Given the description of an element on the screen output the (x, y) to click on. 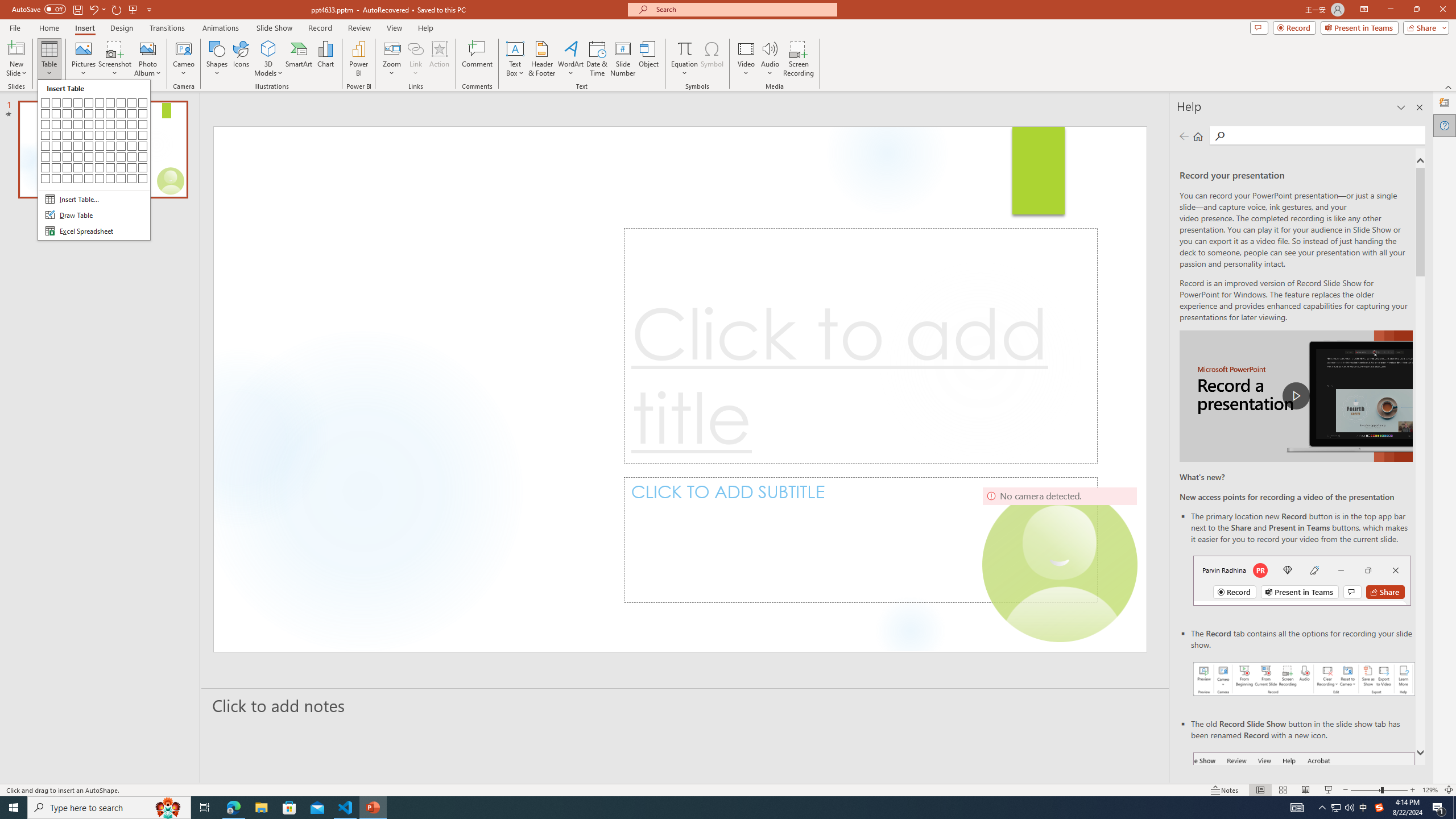
New Photo Album... (147, 48)
Comment (476, 58)
SmartArt... (298, 58)
Object... (649, 58)
Video (745, 58)
